Given the description of an element on the screen output the (x, y) to click on. 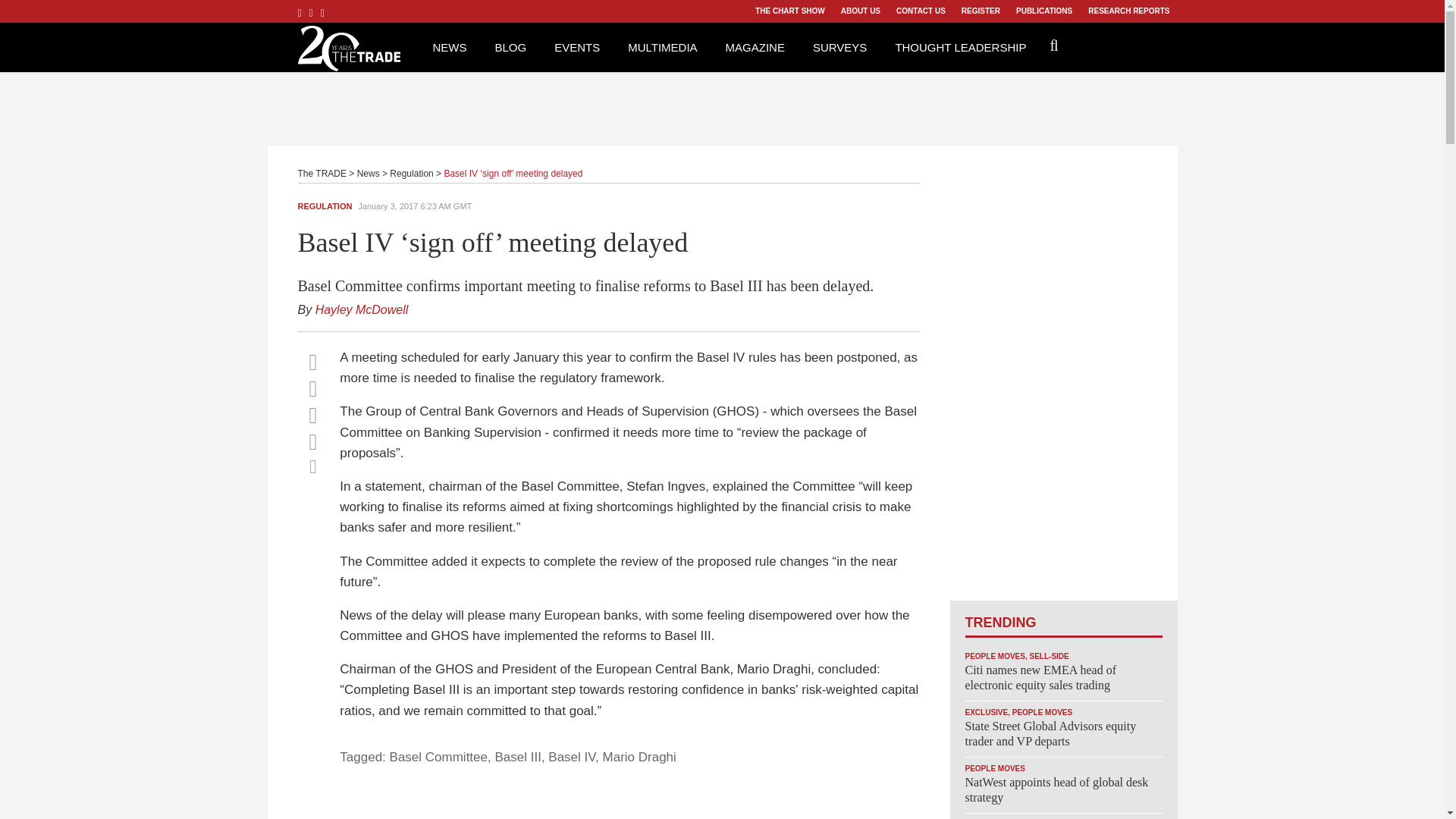
3rd party ad content (722, 106)
ABOUT US (860, 11)
PUBLICATIONS (1043, 11)
Go to The TRADE. (321, 173)
Go to the News Category archives. (368, 173)
THE CHART SHOW (789, 11)
Go to the Regulation Category archives. (411, 173)
REGISTER (980, 11)
CONTACT US (920, 11)
